Given the description of an element on the screen output the (x, y) to click on. 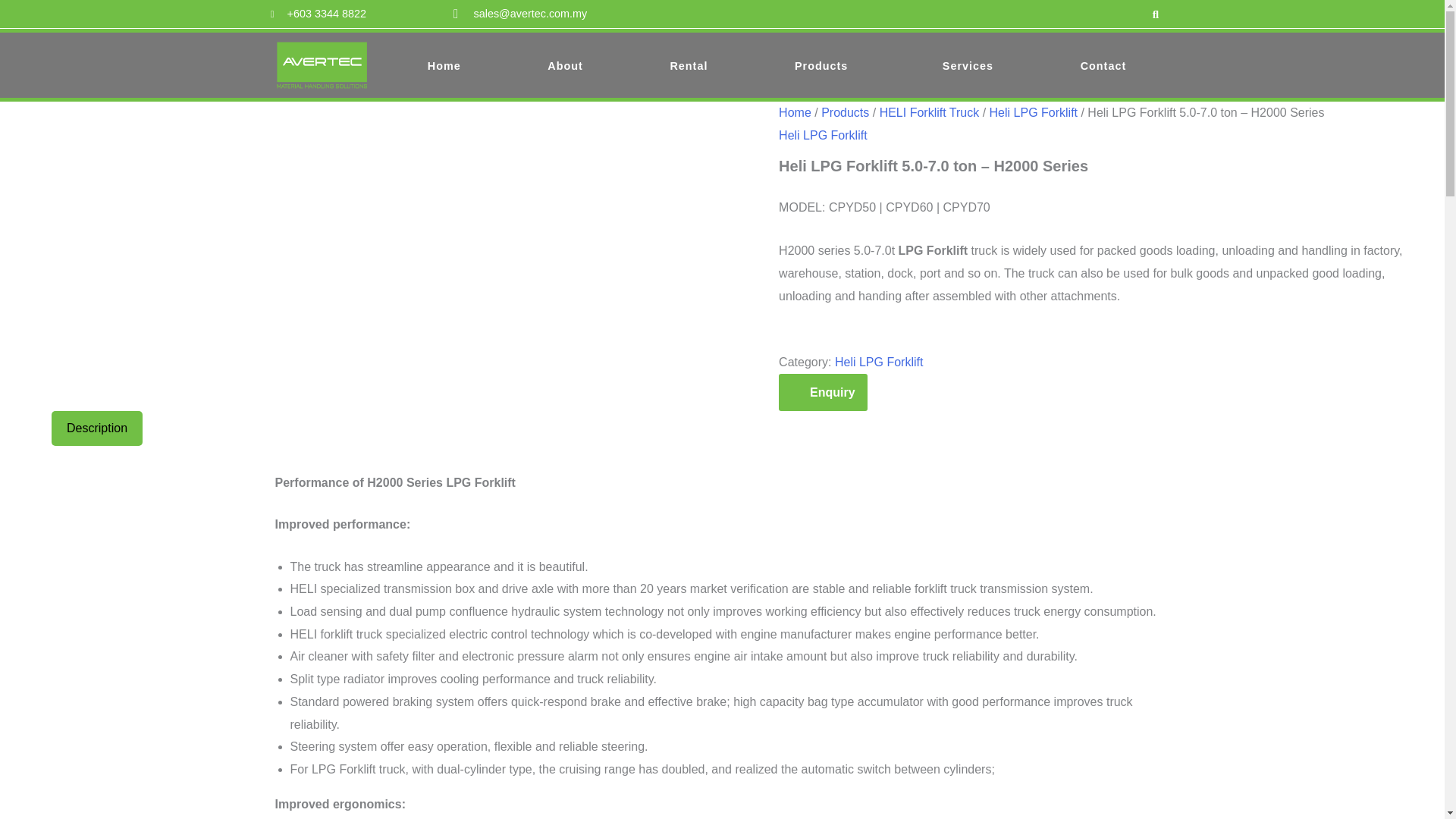
About (564, 65)
Products (825, 65)
Home (443, 65)
Rental (688, 65)
